Given the description of an element on the screen output the (x, y) to click on. 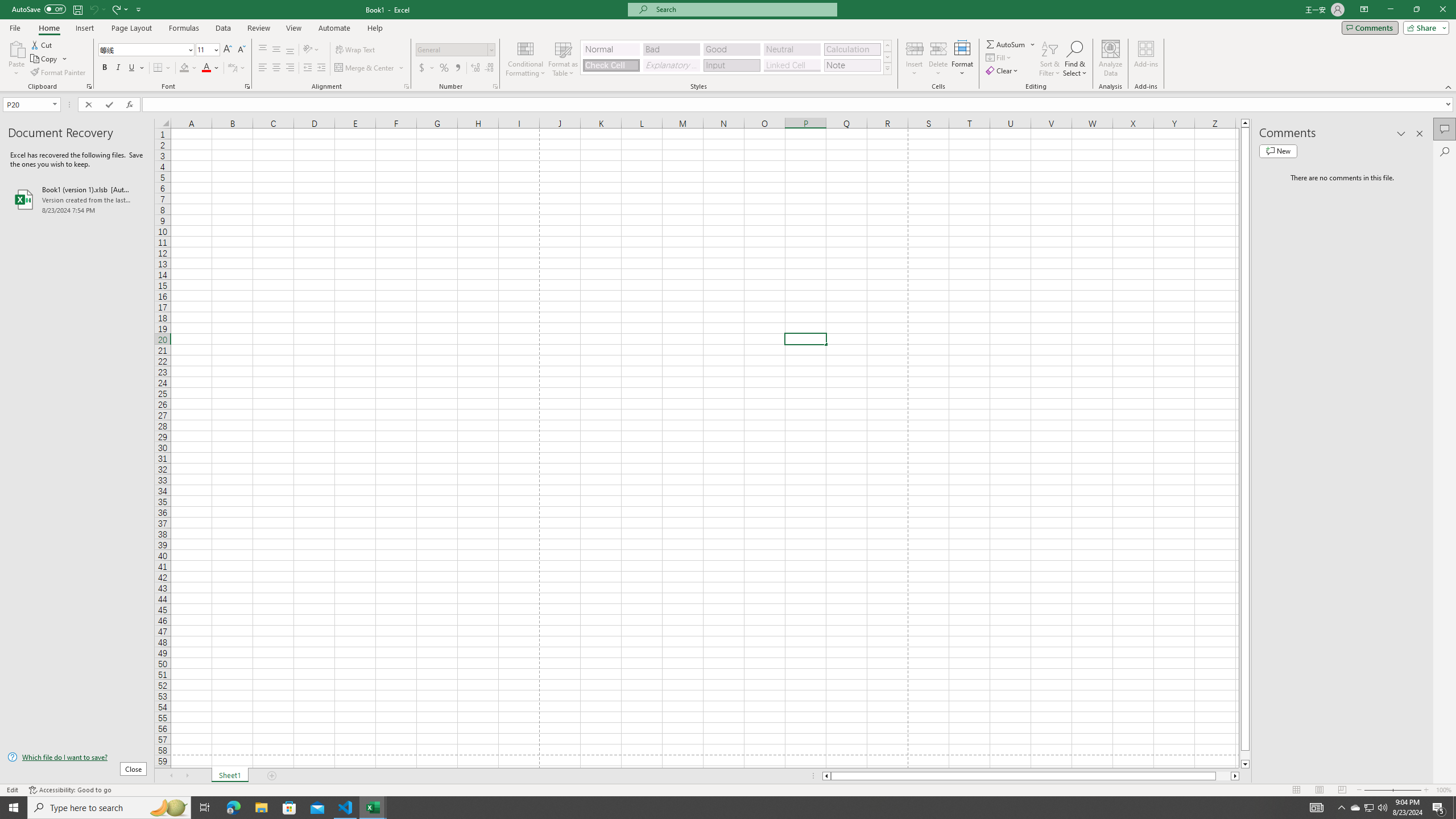
Class: NetUIScrollBar (1030, 775)
Merge & Center (365, 67)
Scroll Left (171, 775)
Add Sheet (272, 775)
Microsoft search (742, 9)
